Given the description of an element on the screen output the (x, y) to click on. 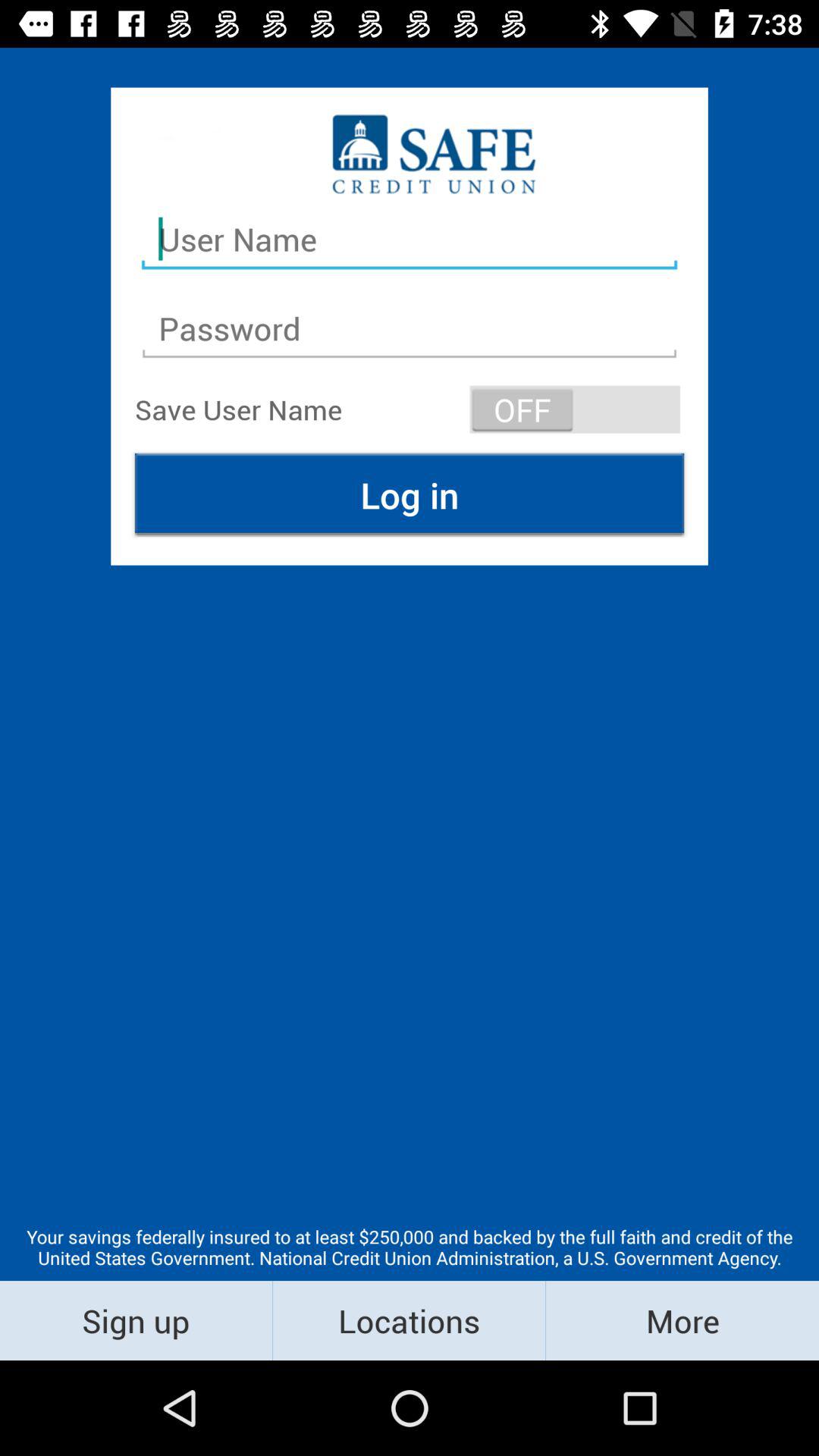
open the item above log in icon (574, 409)
